Given the description of an element on the screen output the (x, y) to click on. 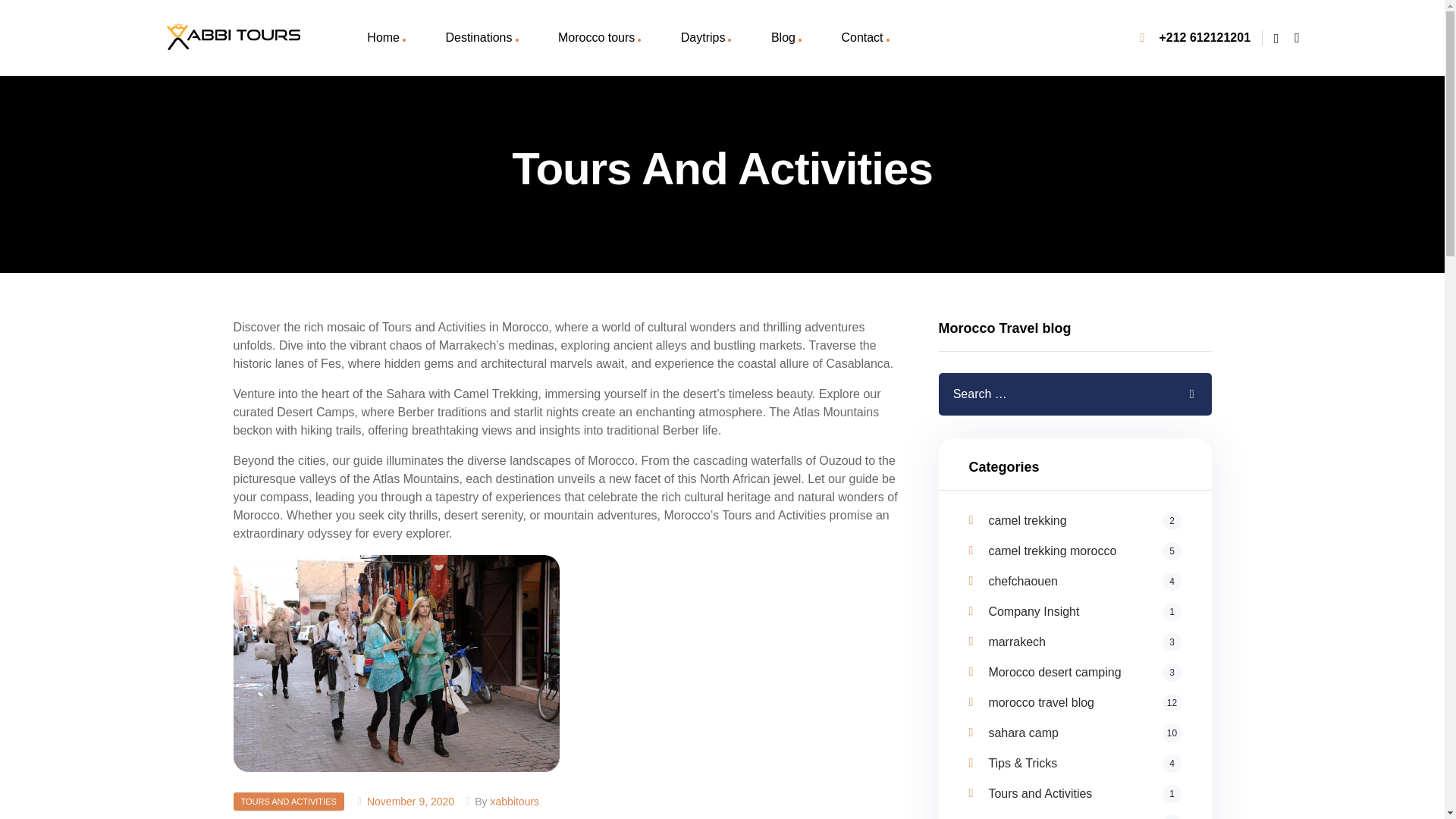
TOURS AND ACTIVITIES (1084, 520)
Contact (287, 801)
Search (864, 37)
xabbitours (1084, 581)
Morocco tours (1084, 551)
